Given the description of an element on the screen output the (x, y) to click on. 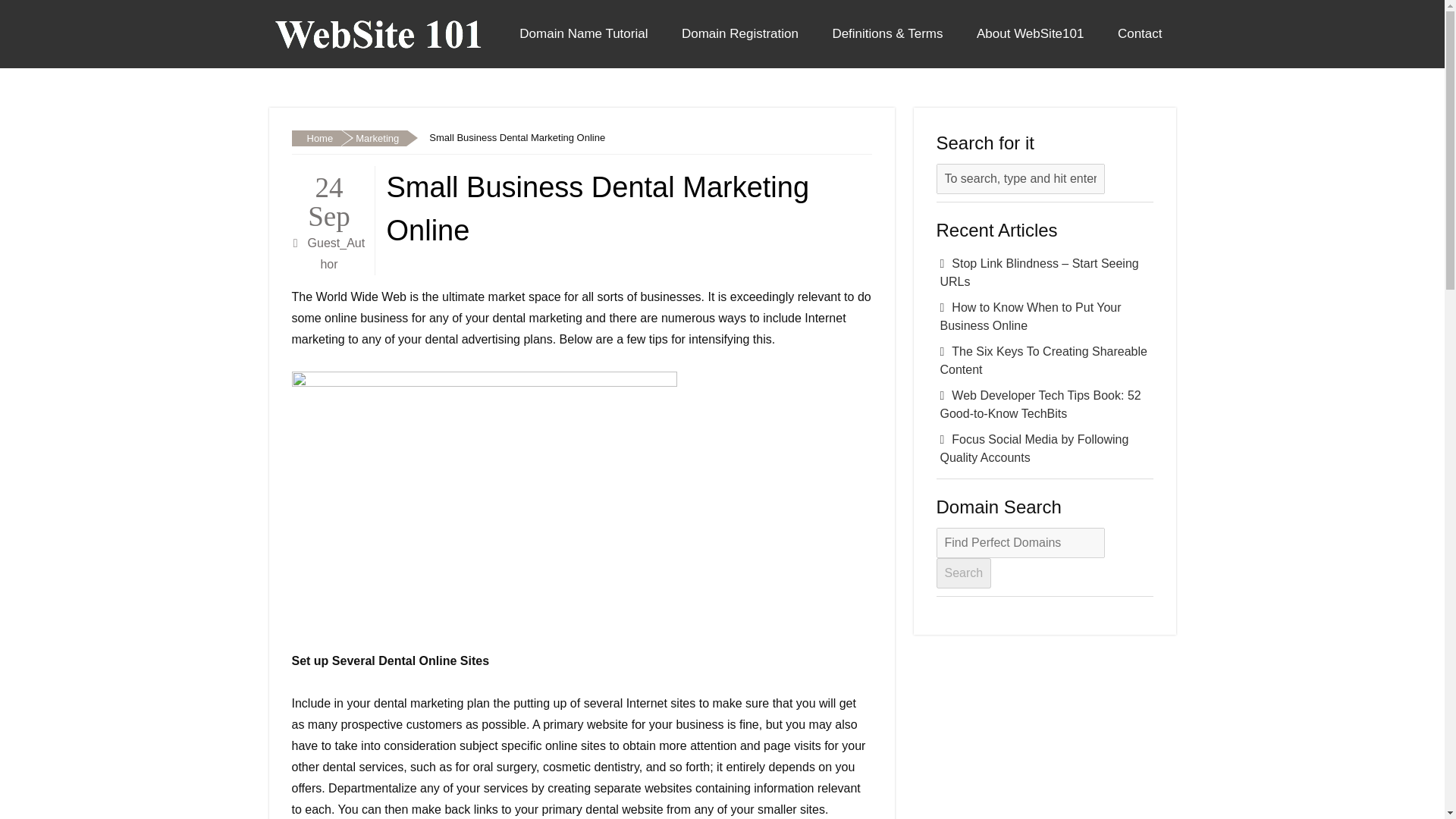
Contact (1139, 33)
Domain Name Tutorial (582, 33)
About WebSite101 (1029, 33)
Search (963, 572)
The Six Keys To Creating Shareable Content (1044, 361)
Search (963, 572)
2012-09-24 (328, 198)
Search (963, 572)
Domain Registration (739, 33)
To search, type and hit enter (1019, 178)
